Given the description of an element on the screen output the (x, y) to click on. 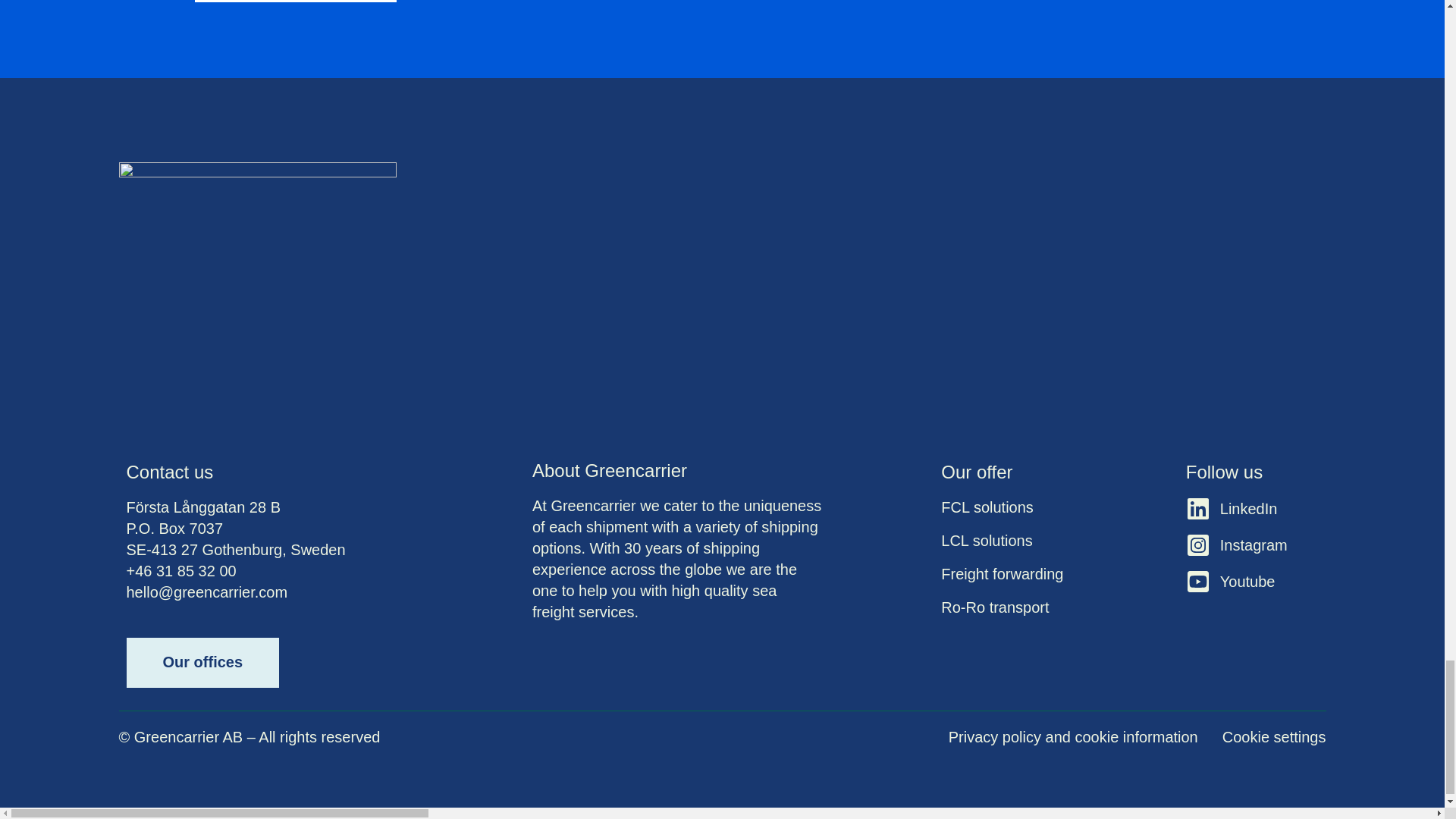
Cookie settings (1274, 736)
LCL solutions (1047, 540)
Ro-Ro transport (1047, 607)
Our offices (202, 662)
Instagram (1251, 545)
FCL solutions (1047, 506)
Youtube (1251, 581)
Freight forwarding (1047, 573)
Privacy policy and cookie information (1073, 736)
LinkedIn (1251, 508)
Subscribe (294, 1)
